Given the description of an element on the screen output the (x, y) to click on. 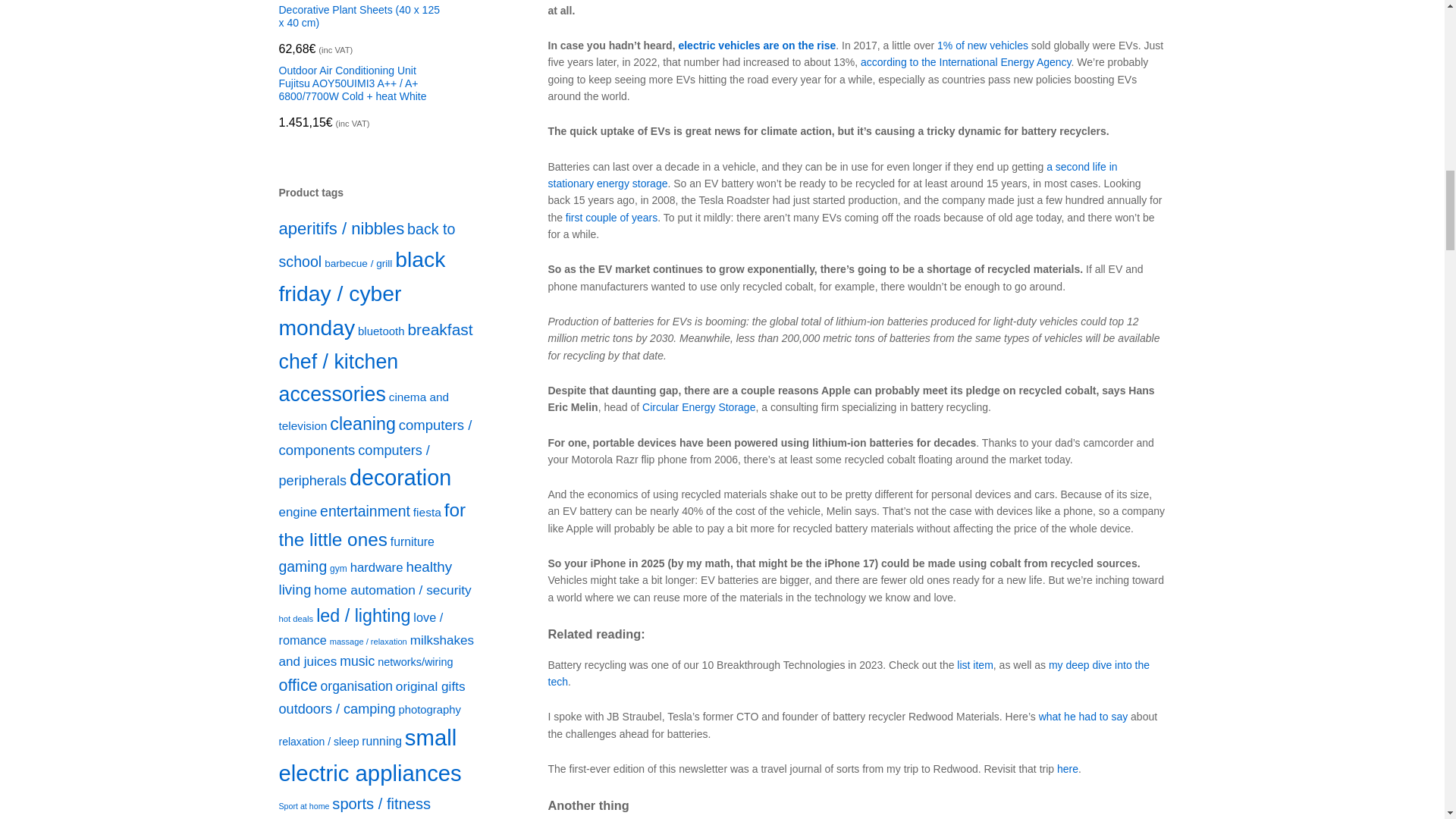
according to the International Energy Agency (965, 61)
a second life in stationary energy storage (831, 174)
list item (974, 664)
my deep dive into the tech (848, 673)
Circular Energy Storage (698, 407)
electric vehicles are on the rise (756, 45)
first couple of years (612, 217)
here (1067, 768)
what he had to say (1083, 716)
